Given the description of an element on the screen output the (x, y) to click on. 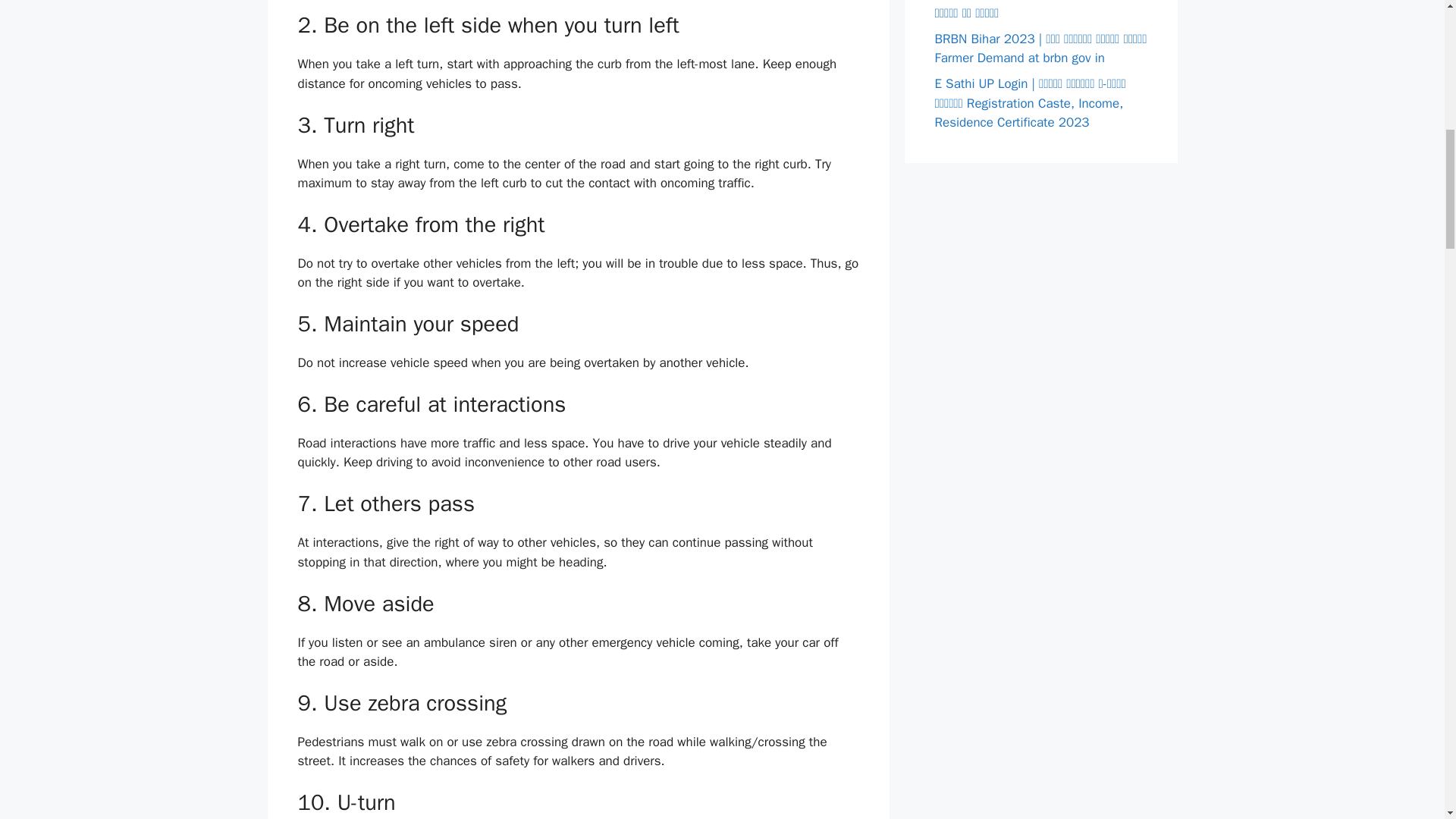
Scroll back to top (1406, 720)
